Given the description of an element on the screen output the (x, y) to click on. 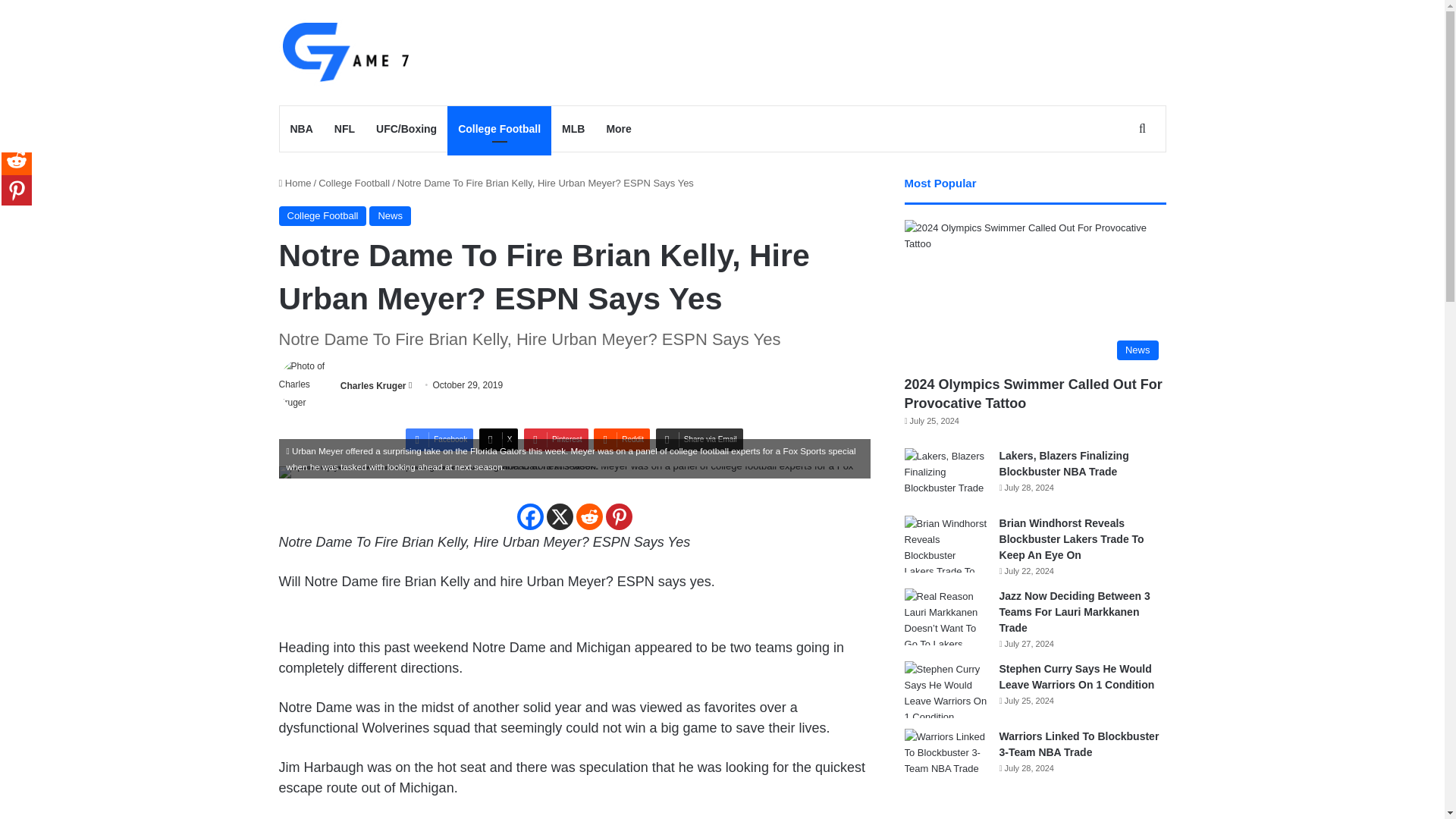
Facebook (439, 439)
Pinterest (618, 516)
Pinterest (556, 439)
College Football (354, 183)
Facebook (529, 516)
College Football (322, 216)
MLB (573, 128)
GAME 7 (344, 52)
Reddit (621, 439)
Facebook (439, 439)
Reddit (589, 516)
Pinterest (556, 439)
NBA (301, 128)
College Football (498, 128)
NFL (344, 128)
